Given the description of an element on the screen output the (x, y) to click on. 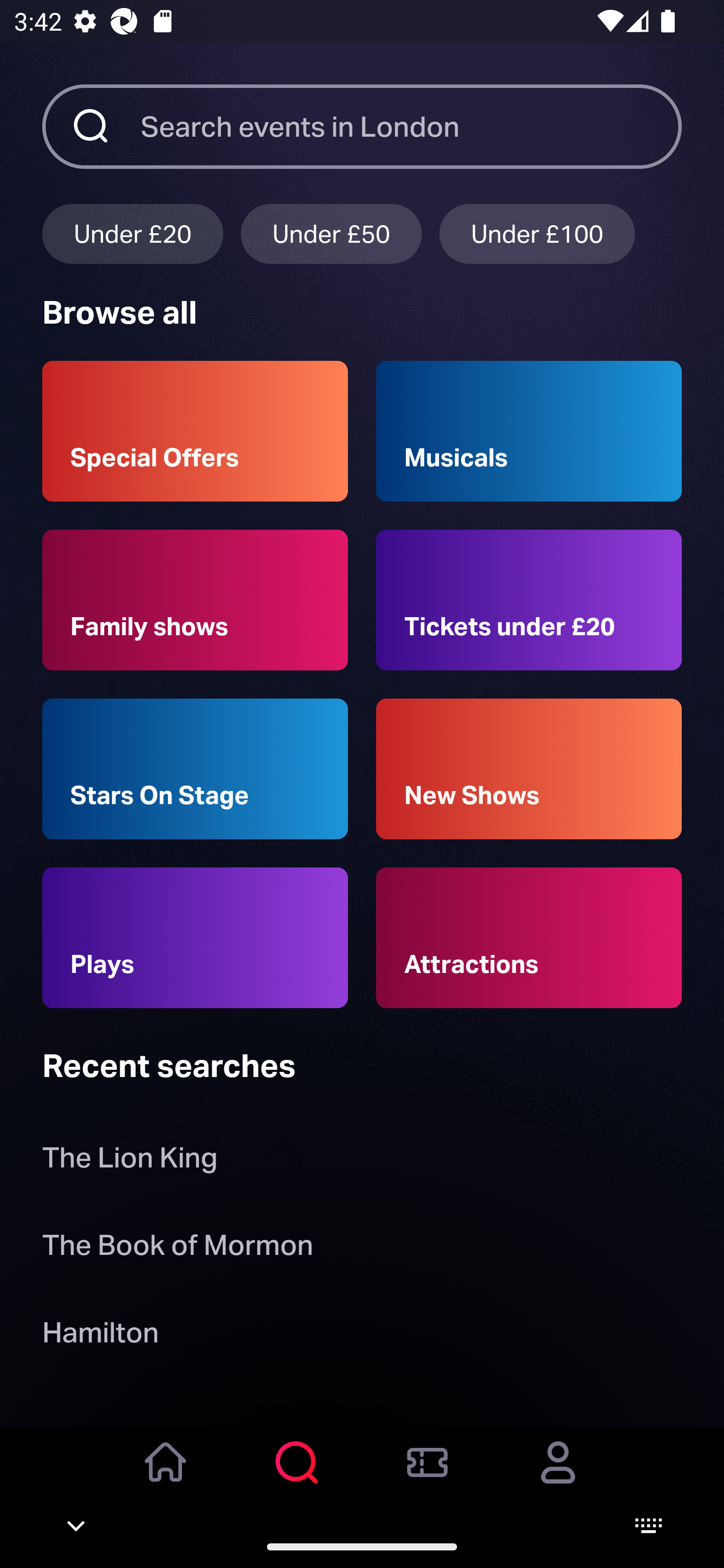
Search events in London (411, 126)
Under £20 (131, 233)
Under £50 (331, 233)
Under £100 (536, 233)
Special Offers (194, 430)
Musicals (528, 430)
Family shows (194, 600)
Tickets under £20  (528, 600)
Stars On Stage (194, 768)
New Shows (528, 768)
Plays (194, 937)
Attractions  (528, 937)
The Lion King (129, 1161)
The Book of Mormon (177, 1248)
Hamilton (99, 1335)
Home (165, 1475)
Orders (427, 1475)
Account (558, 1475)
